Given the description of an element on the screen output the (x, y) to click on. 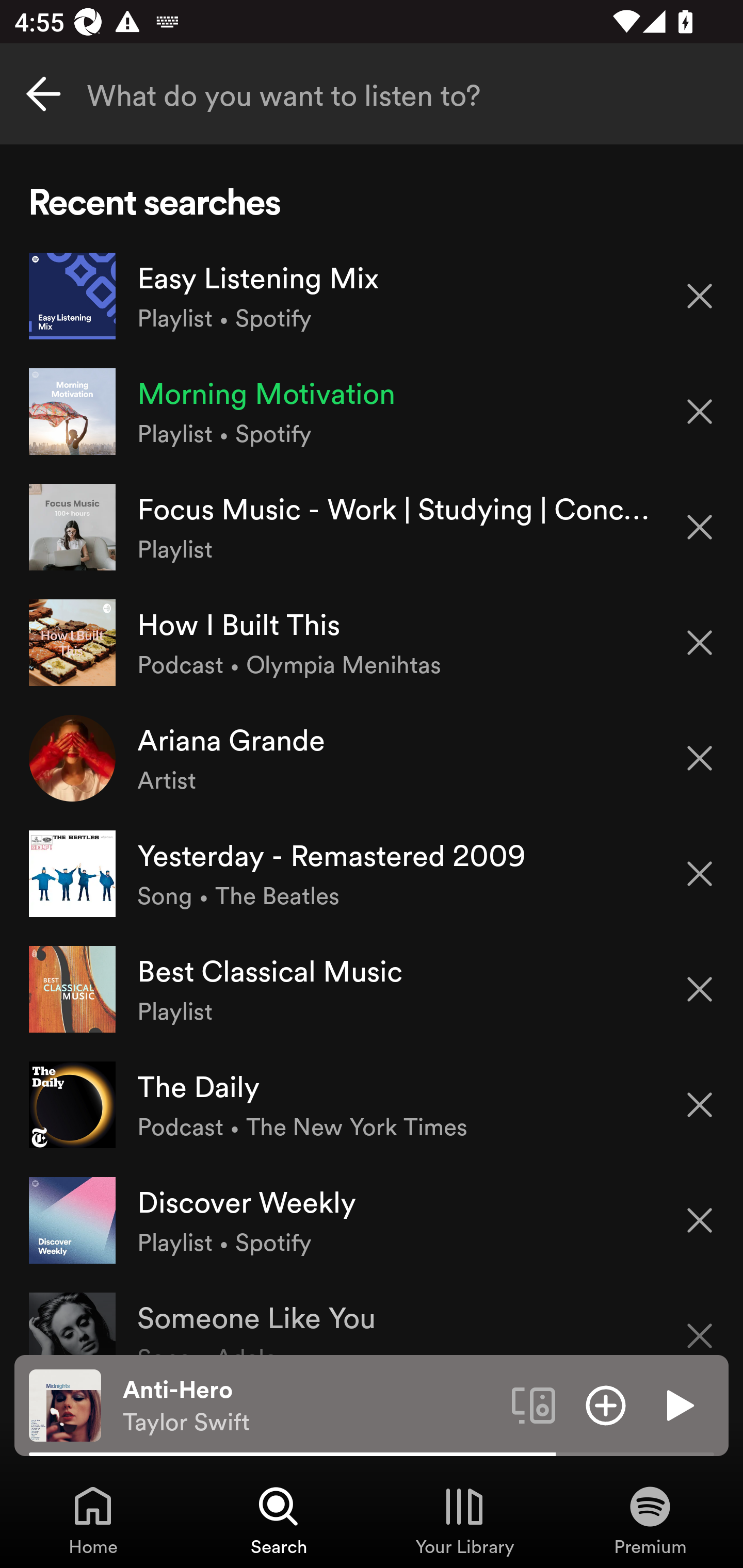
What do you want to listen to? (371, 93)
Cancel (43, 93)
Easy Listening Mix Playlist • Spotify Remove (371, 296)
Remove (699, 295)
Morning Motivation Playlist • Spotify Remove (371, 411)
Remove (699, 411)
Remove (699, 527)
Remove (699, 642)
Ariana Grande Artist Remove (371, 757)
Remove (699, 758)
Remove (699, 874)
Best Classical Music Playlist Remove (371, 989)
Remove (699, 989)
The Daily Podcast • The New York Times Remove (371, 1104)
Remove (699, 1104)
Discover Weekly Playlist • Spotify Remove (371, 1219)
Remove (699, 1220)
Someone Like You Song • Adele Remove (371, 1315)
Remove (699, 1323)
Anti-Hero Taylor Swift (309, 1405)
The cover art of the currently playing track (64, 1404)
Connect to a device. Opens the devices menu (533, 1404)
Add item (605, 1404)
Play (677, 1404)
Home, Tab 1 of 4 Home Home (92, 1519)
Search, Tab 2 of 4 Search Search (278, 1519)
Your Library, Tab 3 of 4 Your Library Your Library (464, 1519)
Premium, Tab 4 of 4 Premium Premium (650, 1519)
